Given the description of an element on the screen output the (x, y) to click on. 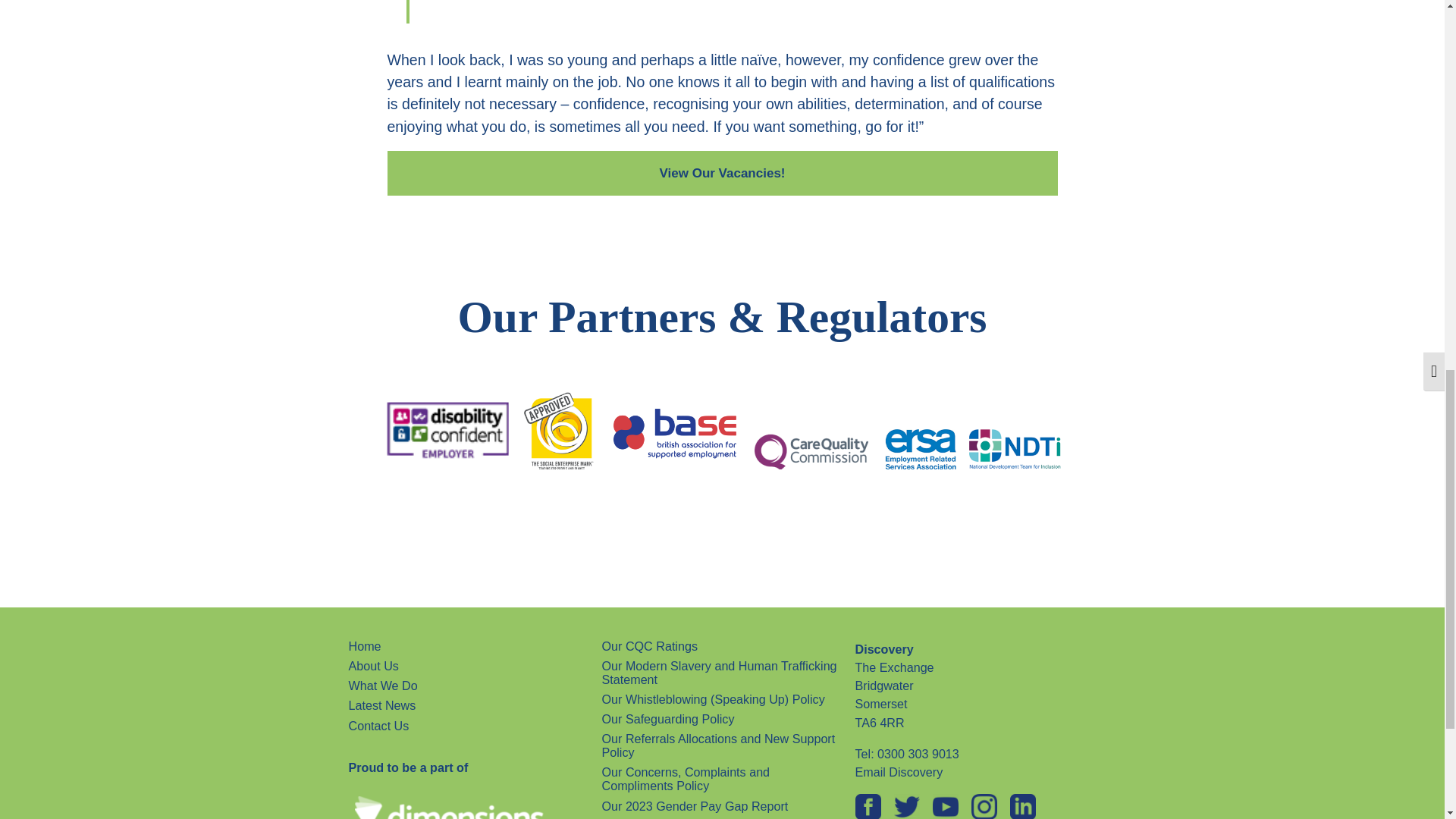
Latest News (382, 705)
Our Referrals Allocations and New Support Policy (722, 746)
What We Do (383, 685)
Contact Us (379, 726)
Our 2023 Gender Pay Gap Report (695, 806)
View Our Vacancies! (722, 173)
Our Concerns, Complaints and Compliments Policy (722, 779)
Home (365, 646)
Our CQC Ratings (649, 646)
Our Safeguarding Policy (668, 719)
